Given the description of an element on the screen output the (x, y) to click on. 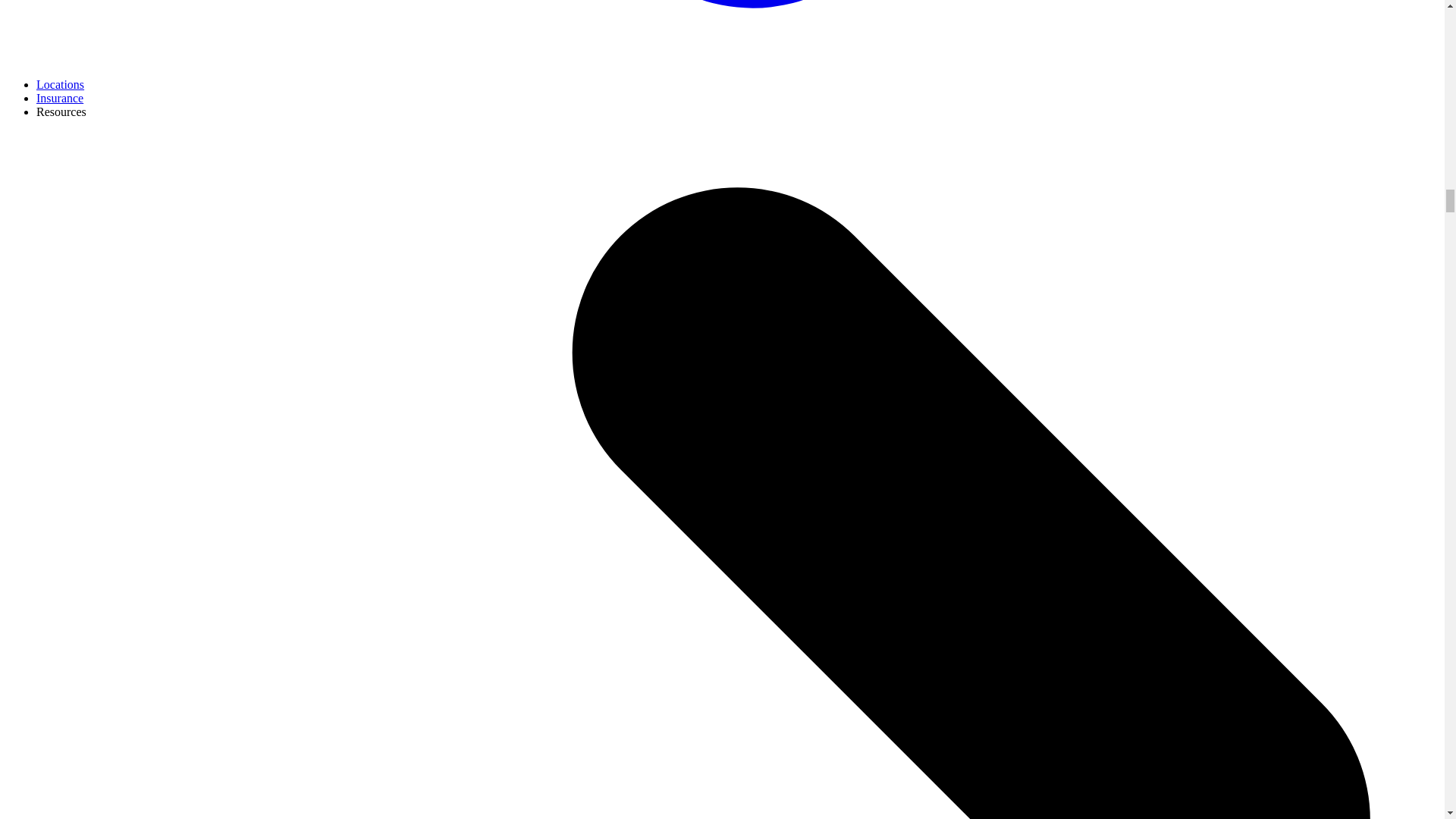
Locations (60, 83)
Insurance (59, 97)
